Given the description of an element on the screen output the (x, y) to click on. 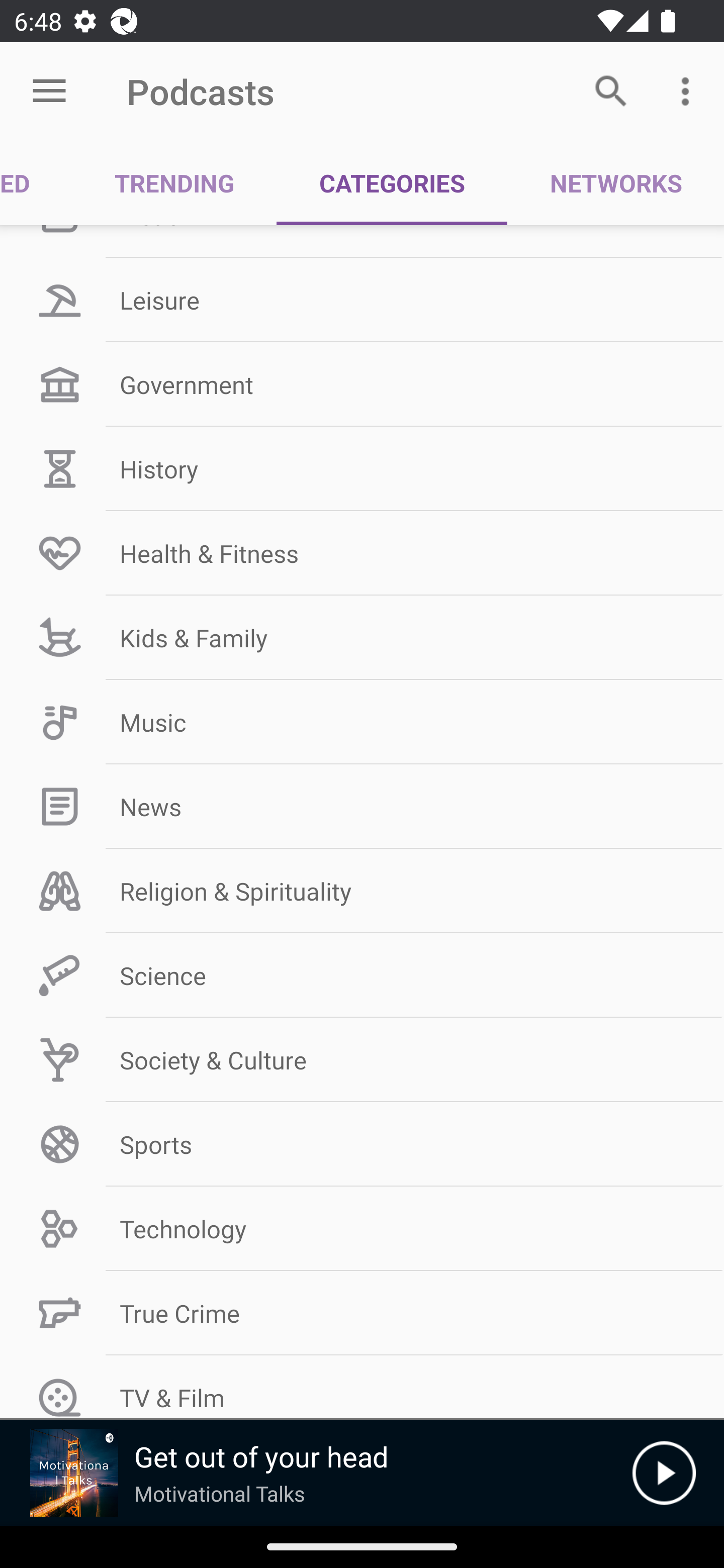
Open menu (49, 91)
Search (611, 90)
More options (688, 90)
TRENDING (174, 183)
CATEGORIES (391, 183)
NETWORKS (615, 183)
Leisure (362, 299)
Government (362, 383)
History (362, 468)
Health & Fitness (362, 553)
Kids & Family (362, 637)
Music (362, 722)
News (362, 806)
Religion & Spirituality (362, 890)
Science (362, 974)
Society & Culture (362, 1059)
Sports (362, 1144)
Technology (362, 1228)
True Crime (362, 1312)
TV & Film (362, 1387)
Picture Get out of your head Motivational Talks (316, 1472)
Play (663, 1472)
